Given the description of an element on the screen output the (x, y) to click on. 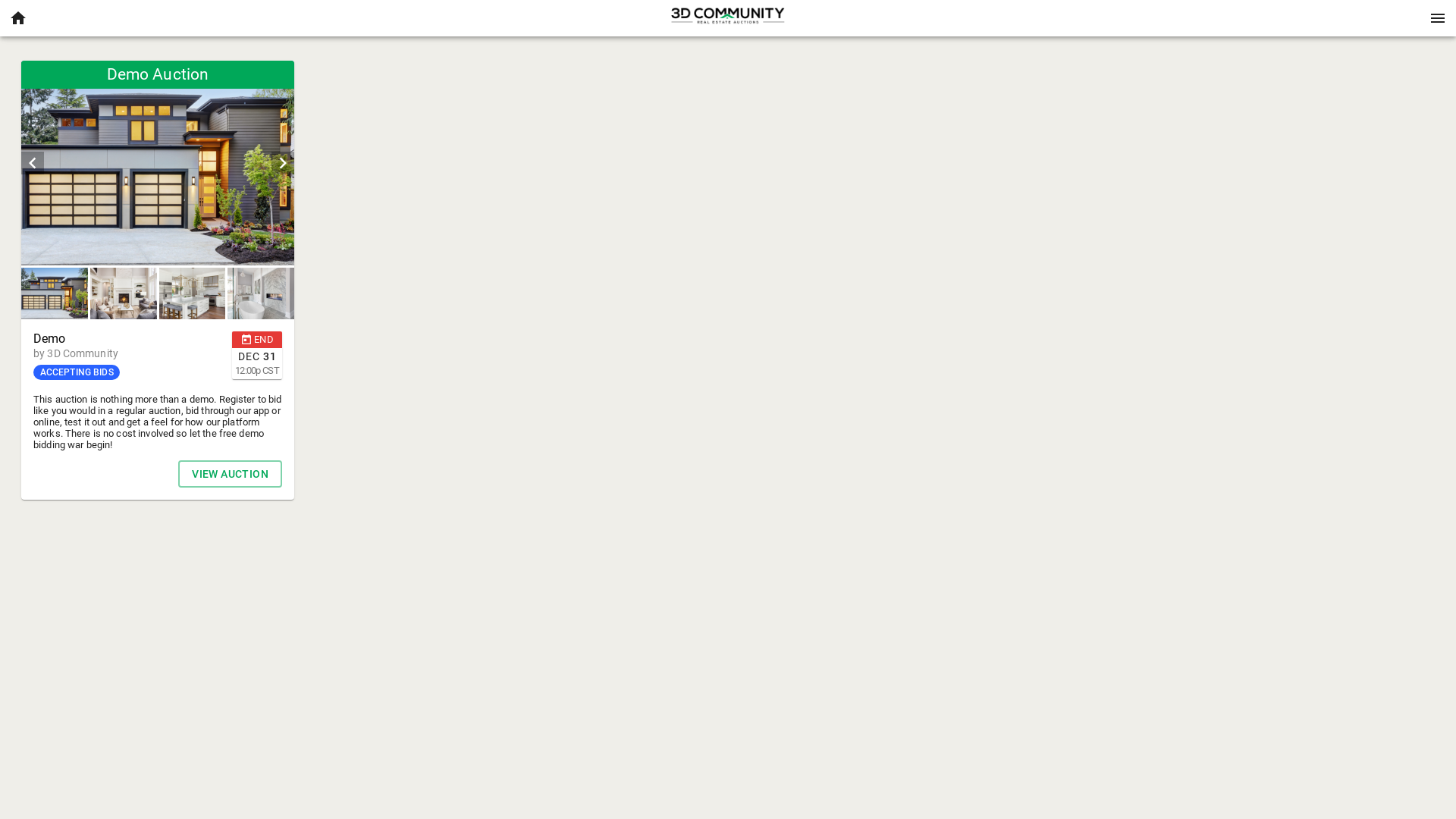
VIEW AUCTION Element type: text (230, 473)
Demo Element type: text (126, 338)
